Given the description of an element on the screen output the (x, y) to click on. 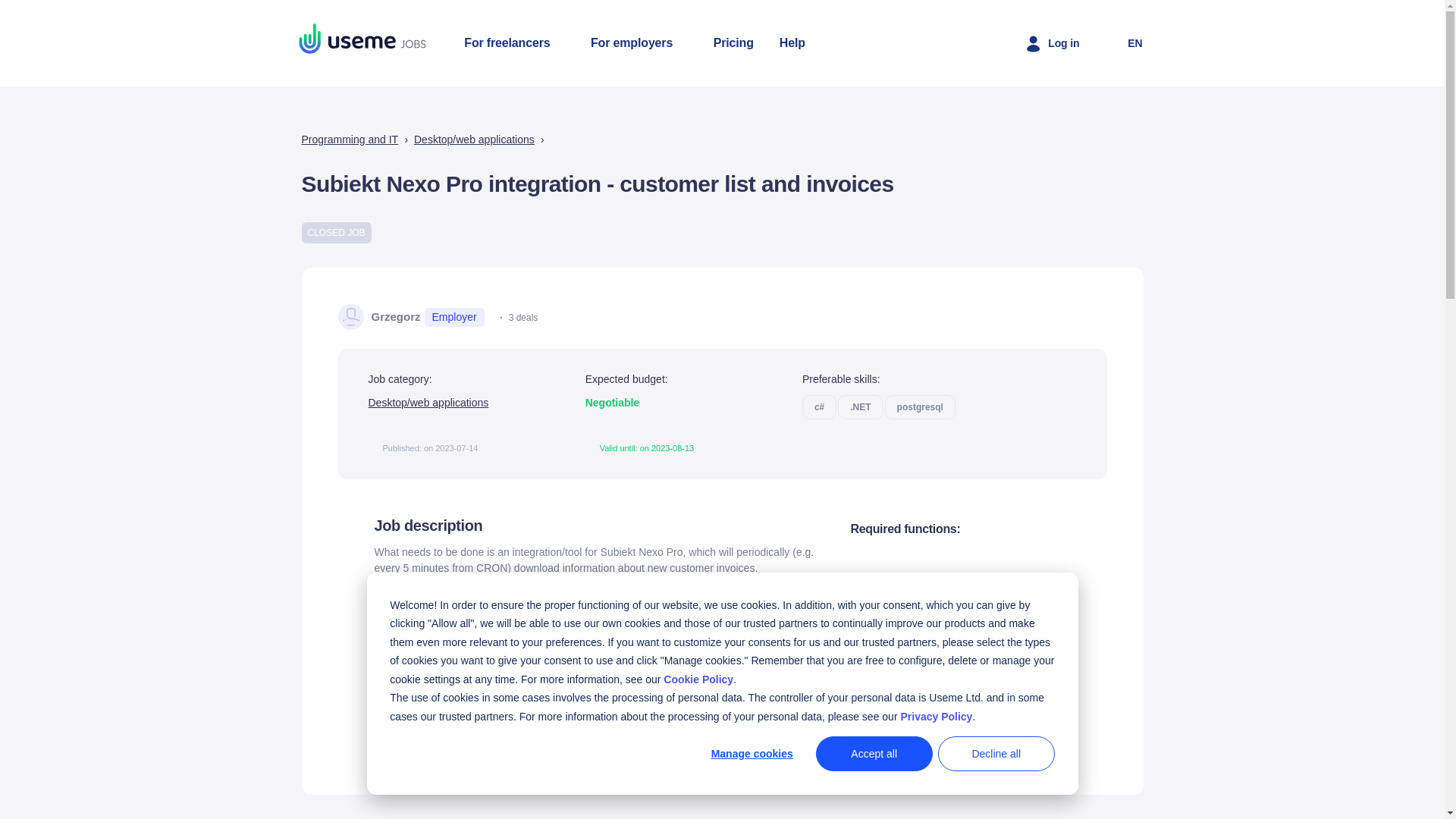
For employers (639, 42)
Programming and IT (349, 139)
2023-08-13 14:20 (667, 447)
EN (1123, 42)
Help (792, 42)
Pricing (733, 42)
Log in (1051, 42)
2023-07-14 14:20 (451, 447)
For freelancers (514, 42)
